Given the description of an element on the screen output the (x, y) to click on. 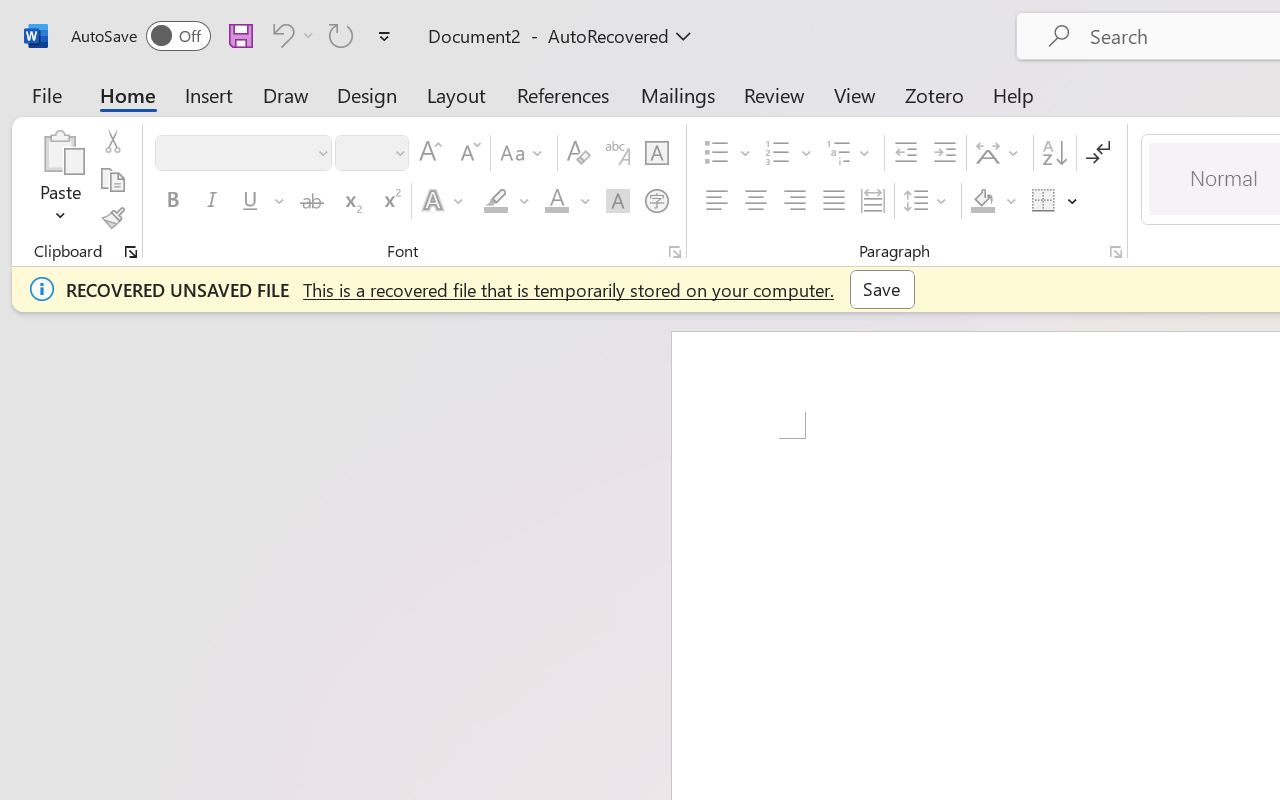
Superscript (390, 201)
